Given the description of an element on the screen output the (x, y) to click on. 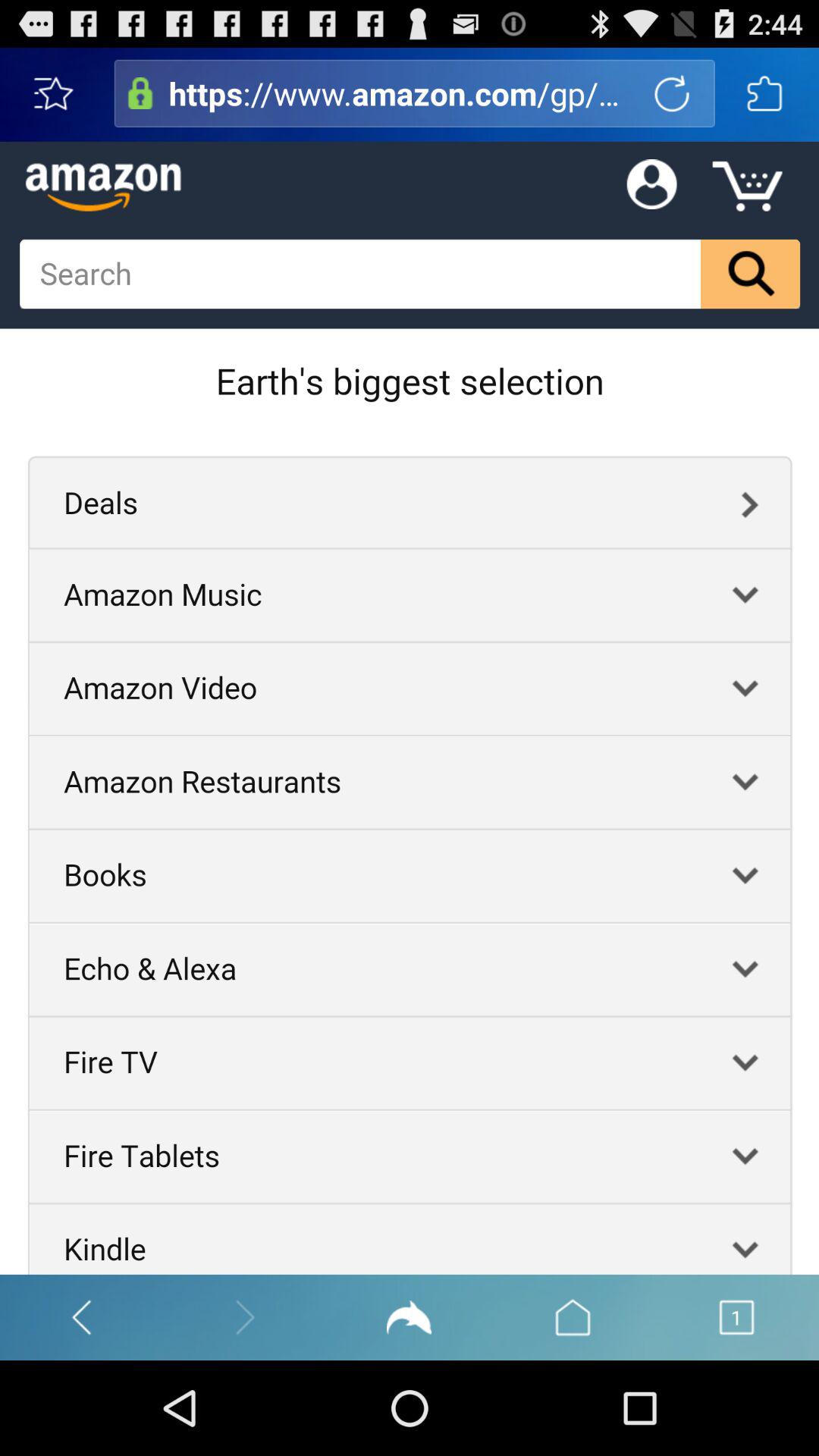
amazon product search (140, 93)
